Given the description of an element on the screen output the (x, y) to click on. 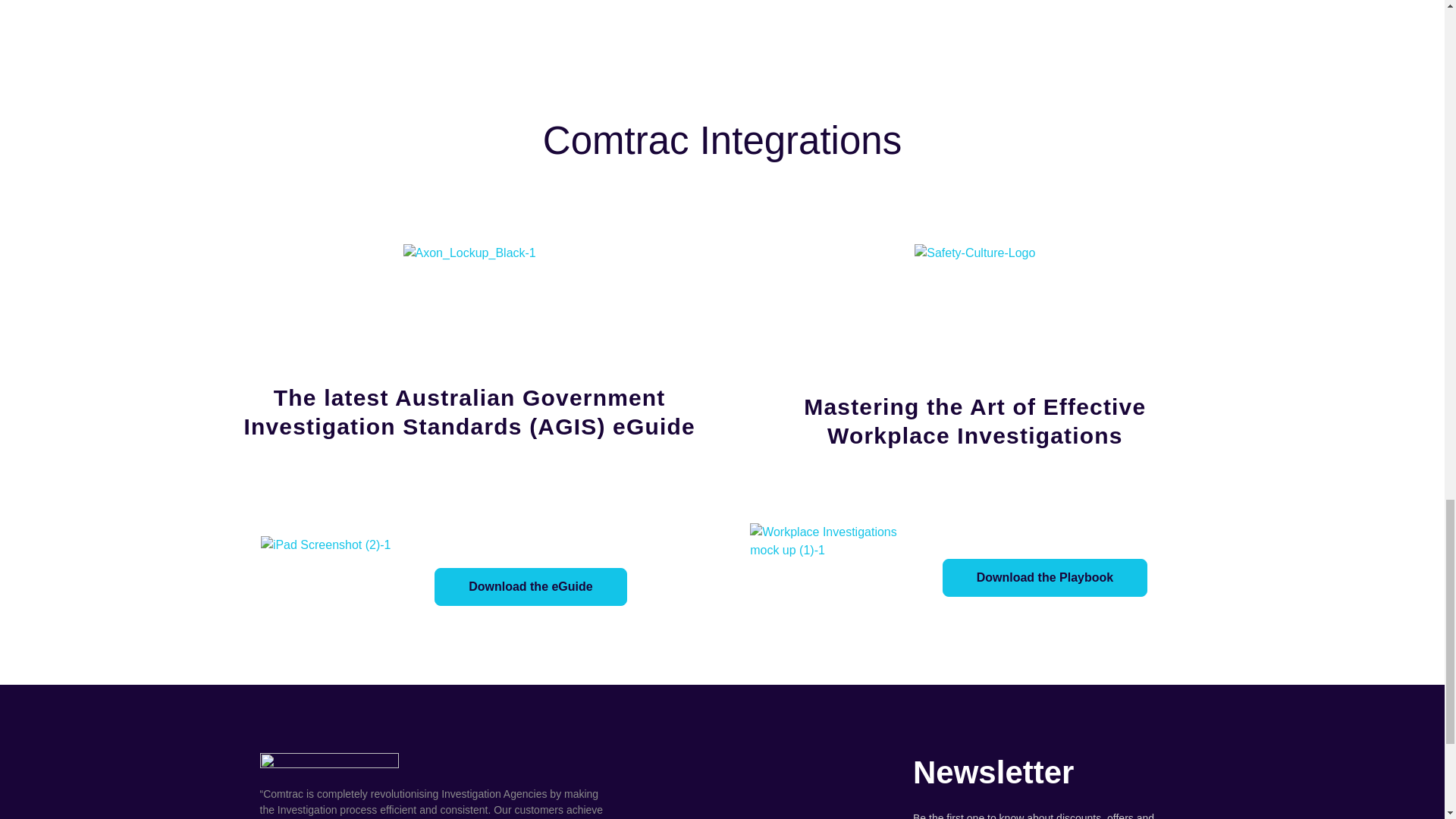
Download the Playbook (1044, 577)
Download the eGuide (530, 587)
Safety-Culture-Logo (974, 253)
